Given the description of an element on the screen output the (x, y) to click on. 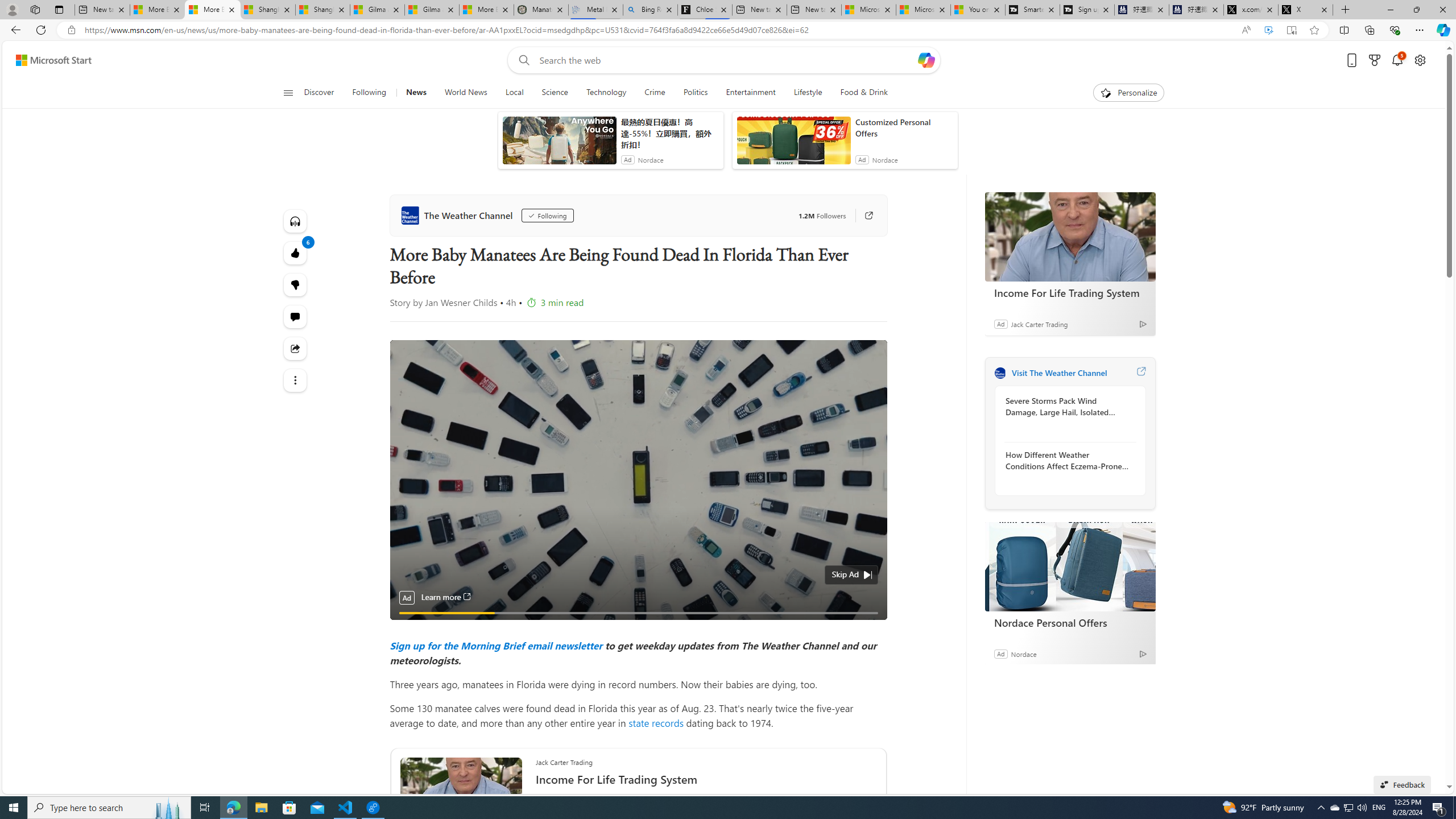
Listen to this article (295, 221)
Learn more (446, 597)
Manatee Mortality Statistics | FWC (541, 9)
Local (514, 92)
Food & Drink (859, 92)
Discover (323, 92)
Dislike (295, 284)
Crime (655, 92)
Nordace Personal Offers (1069, 622)
